Given the description of an element on the screen output the (x, y) to click on. 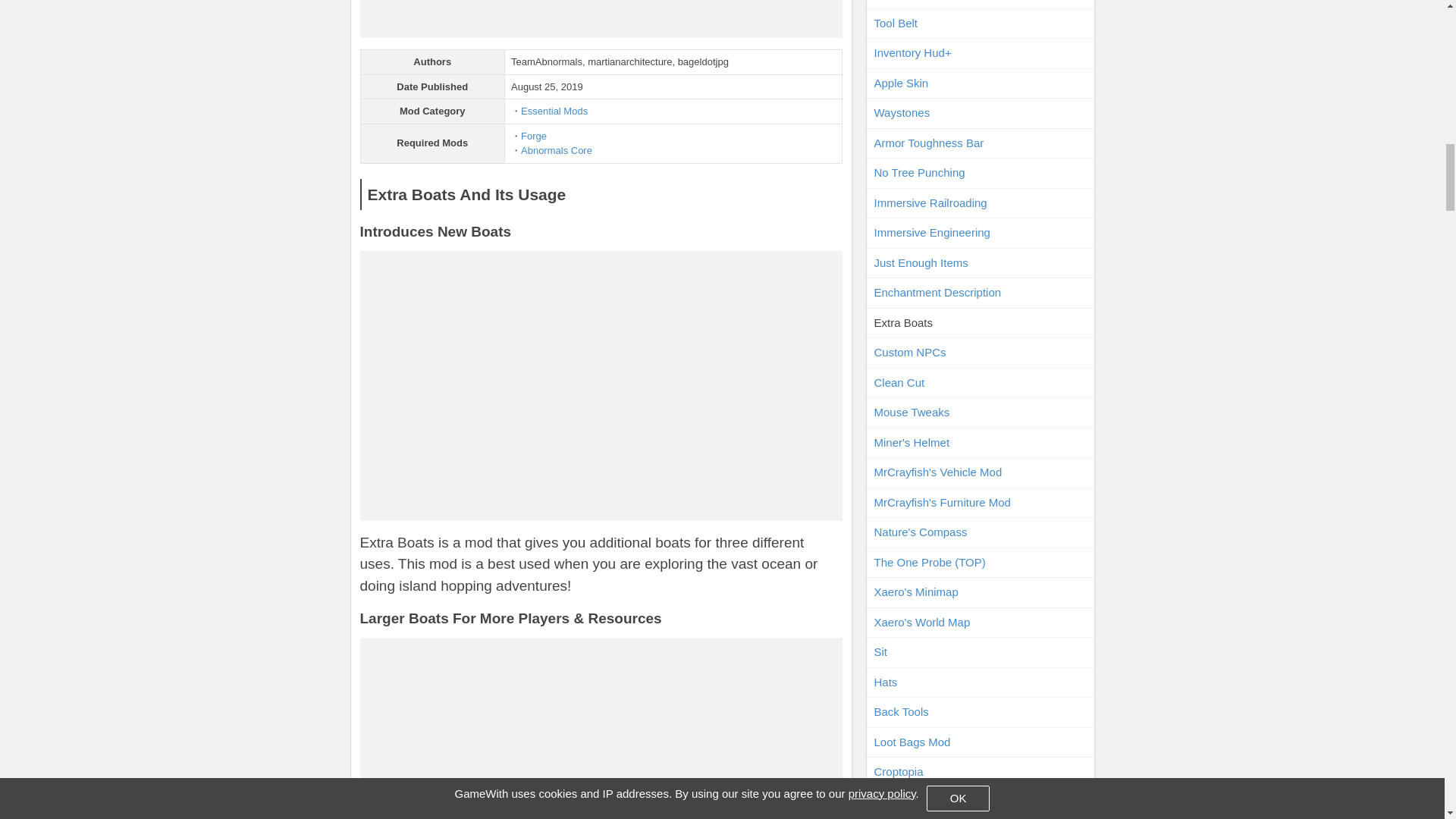
Abnormals Core (556, 150)
Essential Mods (554, 111)
Forge (534, 135)
